Given the description of an element on the screen output the (x, y) to click on. 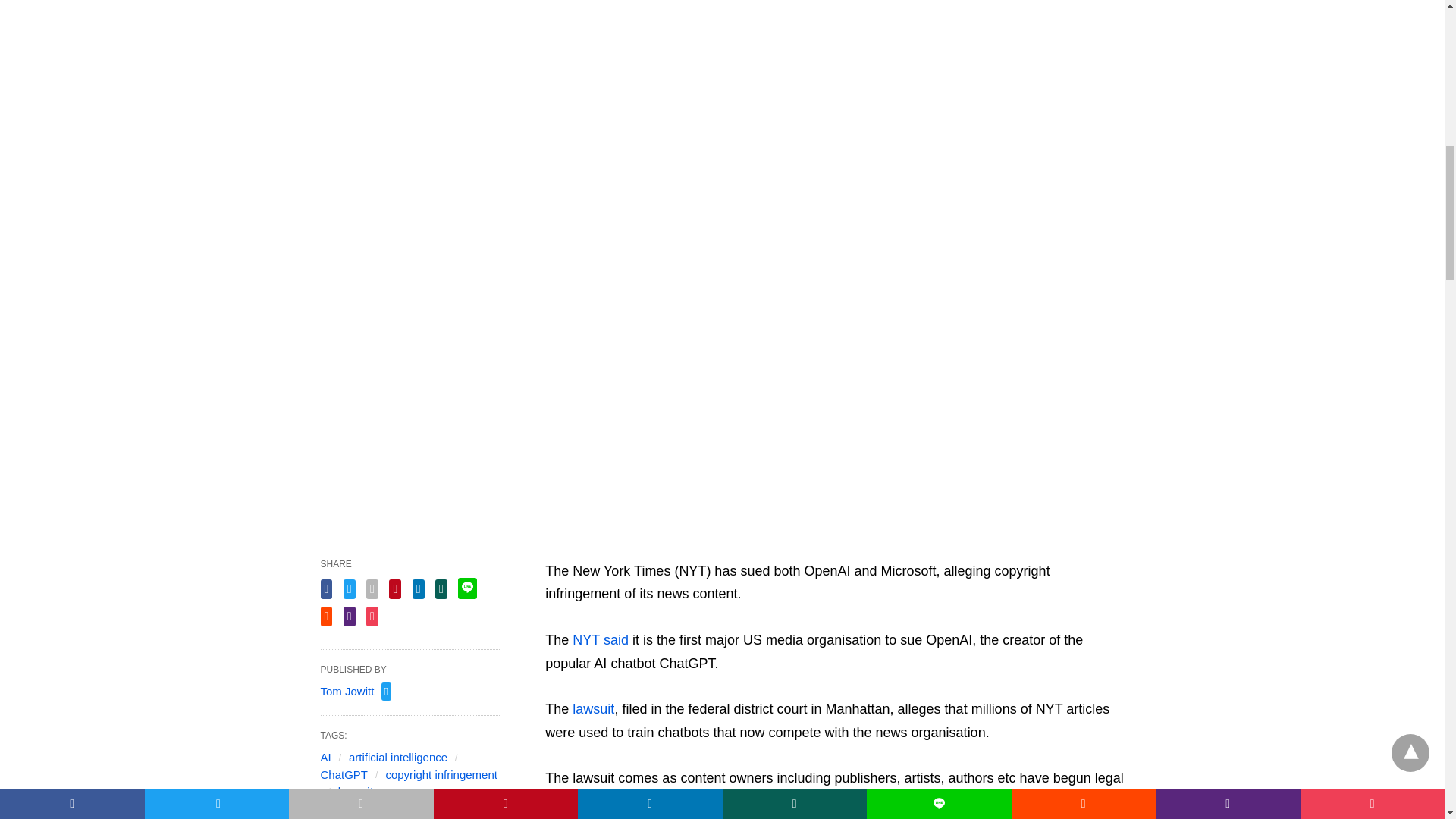
artificial intelligence (397, 757)
lawsuit (593, 708)
ChatGPT (344, 774)
copyright infringement (441, 774)
lawsuit (354, 790)
alleged copyright infringement (923, 801)
line share (467, 588)
NYT said (600, 639)
